Given the description of an element on the screen output the (x, y) to click on. 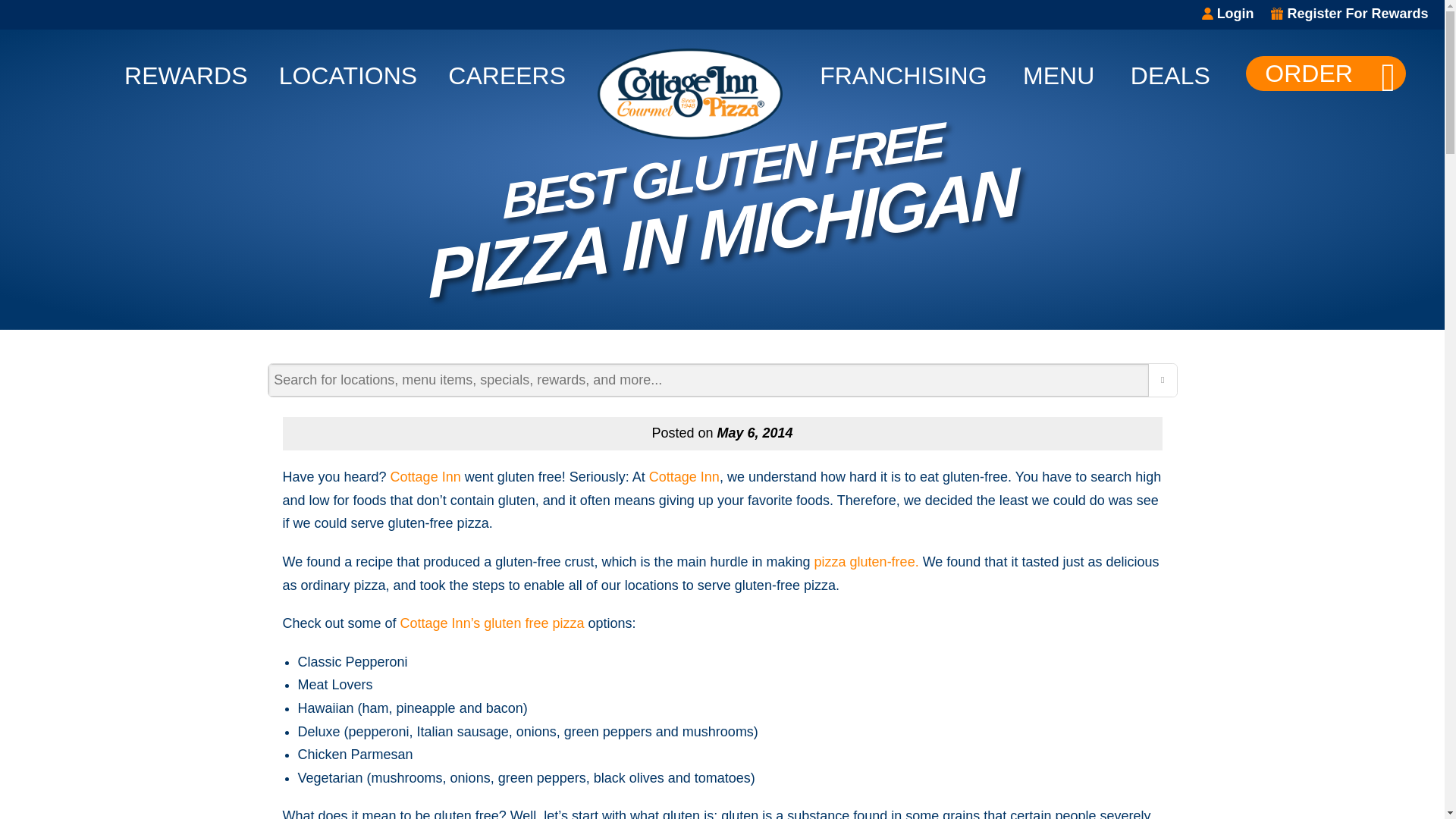
REWARDS (185, 71)
LOCATIONS (348, 71)
ORDER (1326, 73)
CAREERS (507, 71)
DEALS (1170, 71)
FRANCHISING (903, 71)
Cottage Inn Logo Oval Small (689, 93)
Cottage Inn (684, 476)
MENU (1058, 71)
gluten free pizza (533, 622)
